Given the description of an element on the screen output the (x, y) to click on. 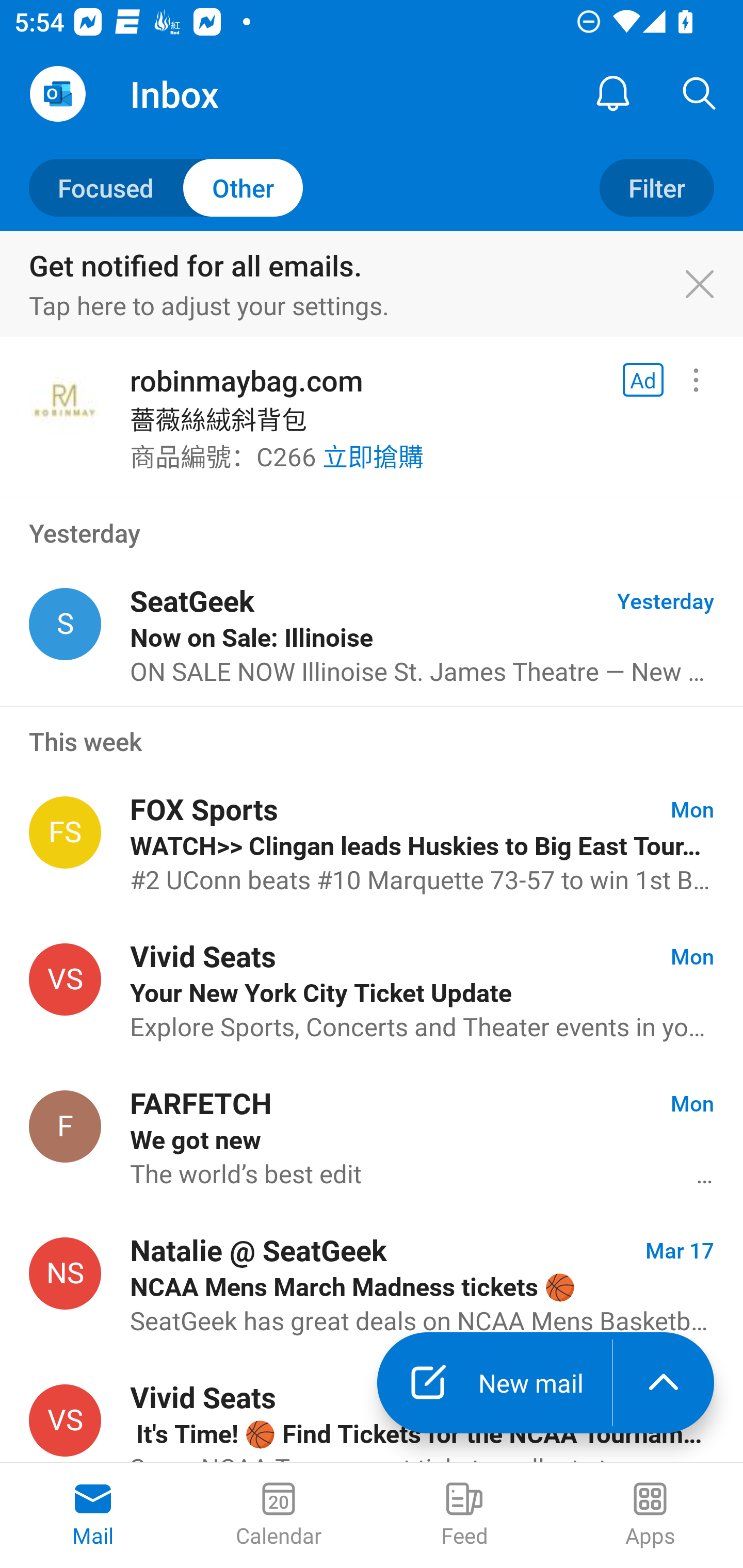
Notification Center (612, 93)
Search, ,  (699, 93)
Open Navigation Drawer (57, 94)
Toggle to Focused Inbox (165, 187)
Filter (656, 187)
Close Notification (710, 284)
Ad options menu button (695, 380)
Ad (642, 379)
SeatGeek, events@seatgeek.com (64, 624)
FOX Sports, email@inbox.foxsports.com (64, 832)
Vivid Seats, tickets@live.vividseats.com (64, 979)
FARFETCH, farfetch@email.farfetch.com (64, 1125)
Natalie @ SeatGeek, events@seatgeek.com (64, 1273)
New mail (494, 1382)
launch the extended action menu (663, 1382)
Vivid Seats, tickets@live.vividseats.com (64, 1420)
Calendar (278, 1515)
Feed (464, 1515)
Apps (650, 1515)
